Given the description of an element on the screen output the (x, y) to click on. 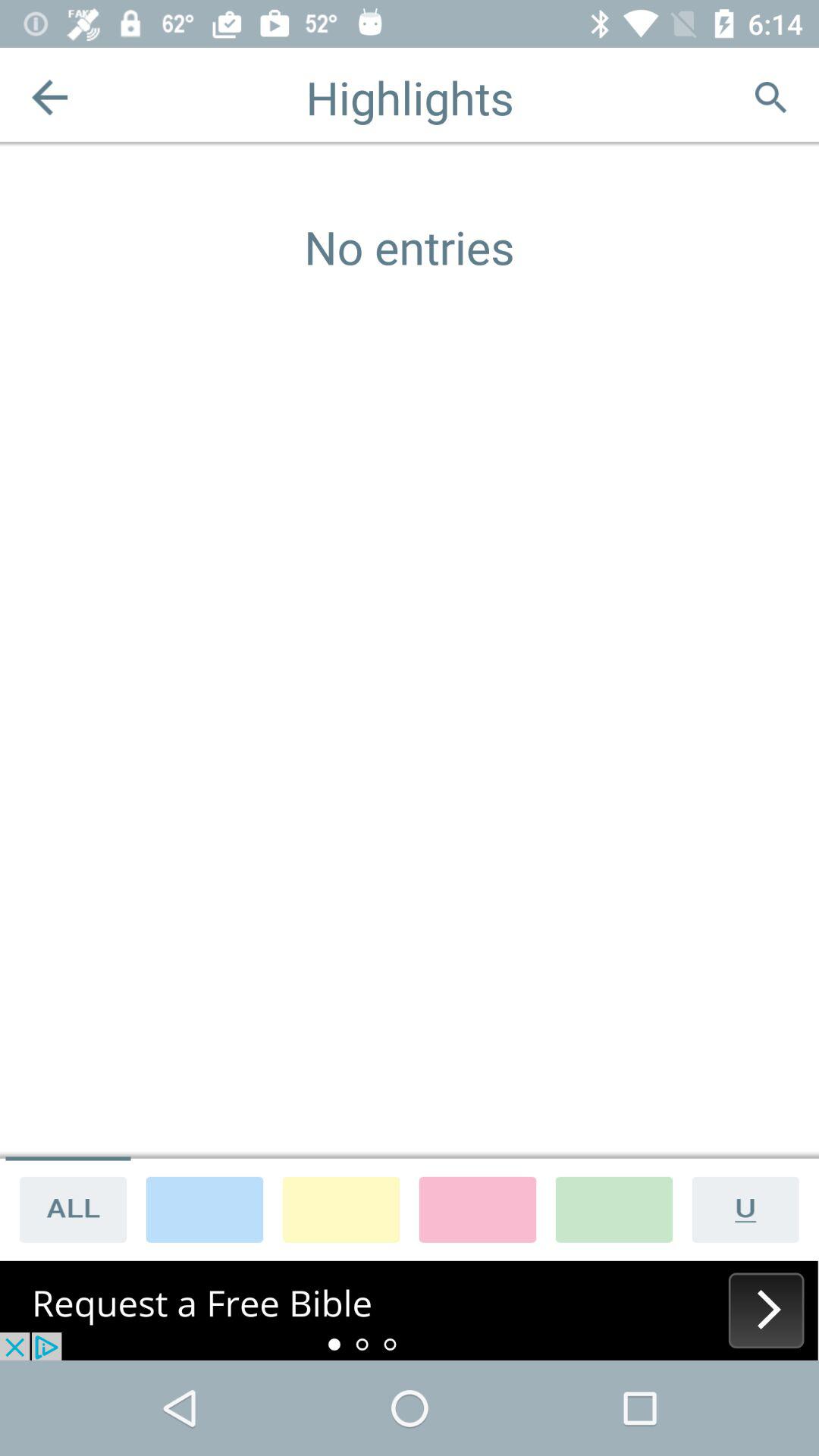
select color (477, 1208)
